Given the description of an element on the screen output the (x, y) to click on. 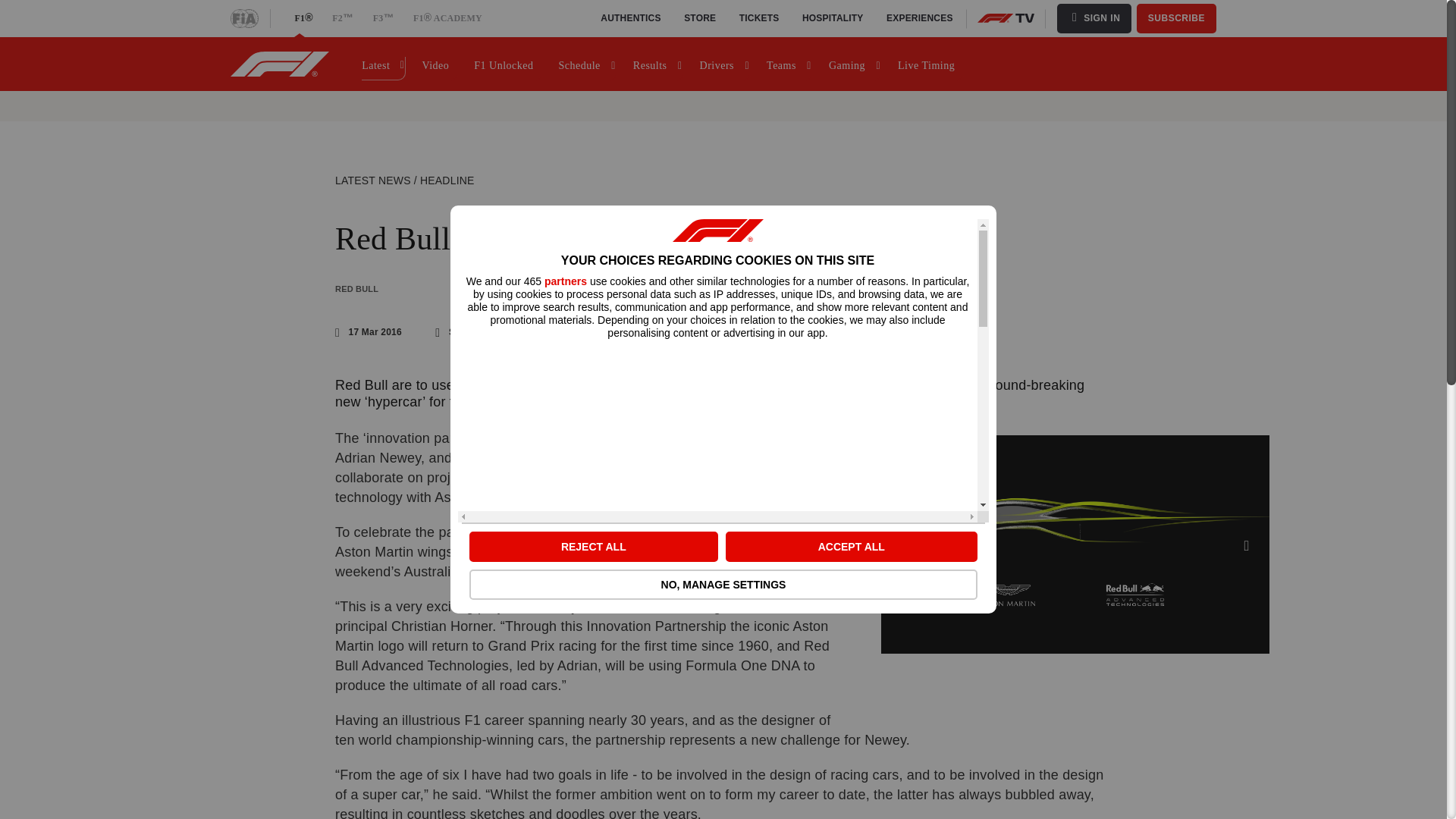
Latest (382, 63)
Video (438, 63)
Results (656, 63)
F1 Unlocked (506, 63)
Twitter (381, 332)
Schedule (585, 63)
Facebook (404, 332)
